Given the description of an element on the screen output the (x, y) to click on. 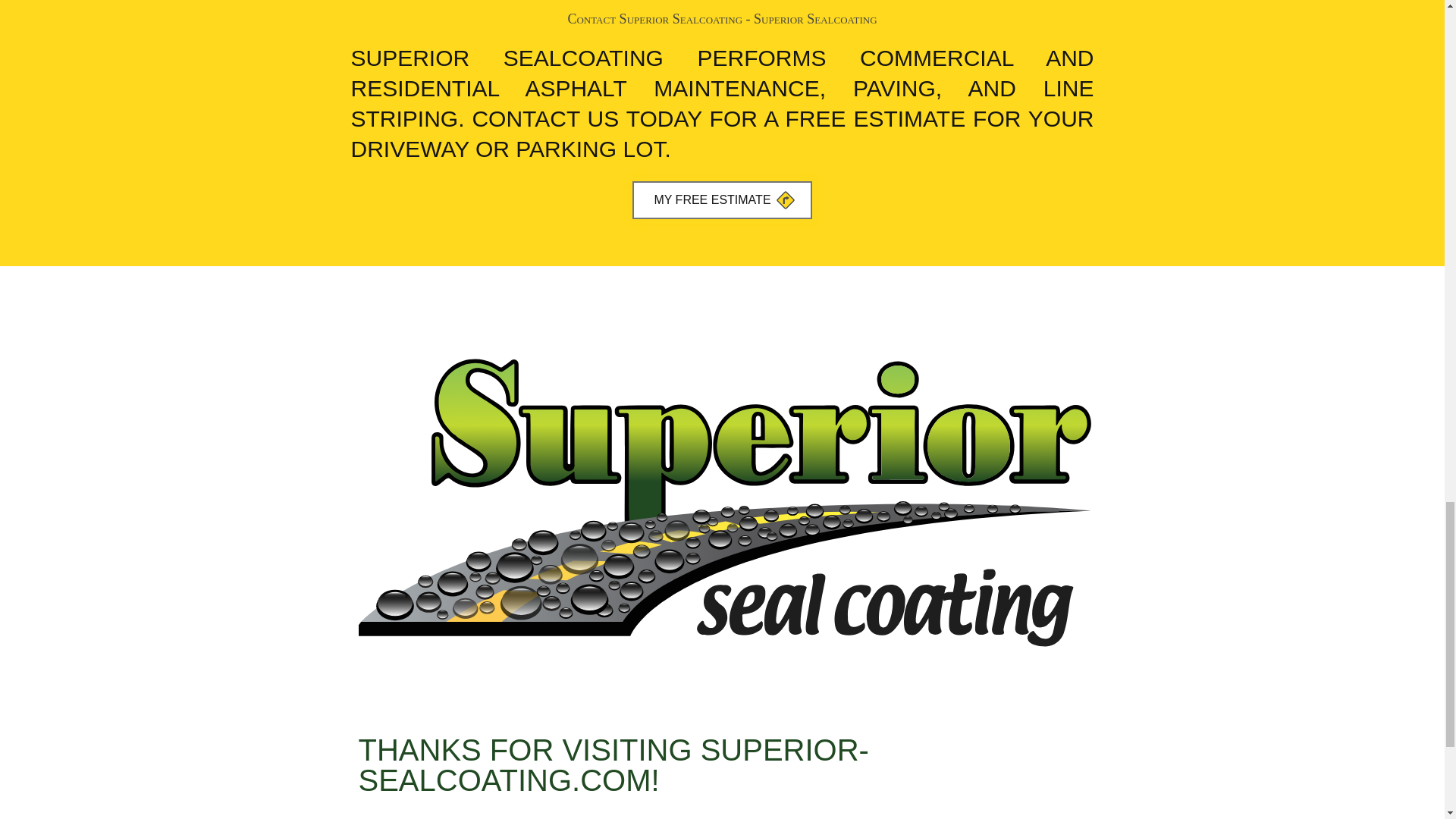
MY FREE ESTIMATE (720, 199)
